Given the description of an element on the screen output the (x, y) to click on. 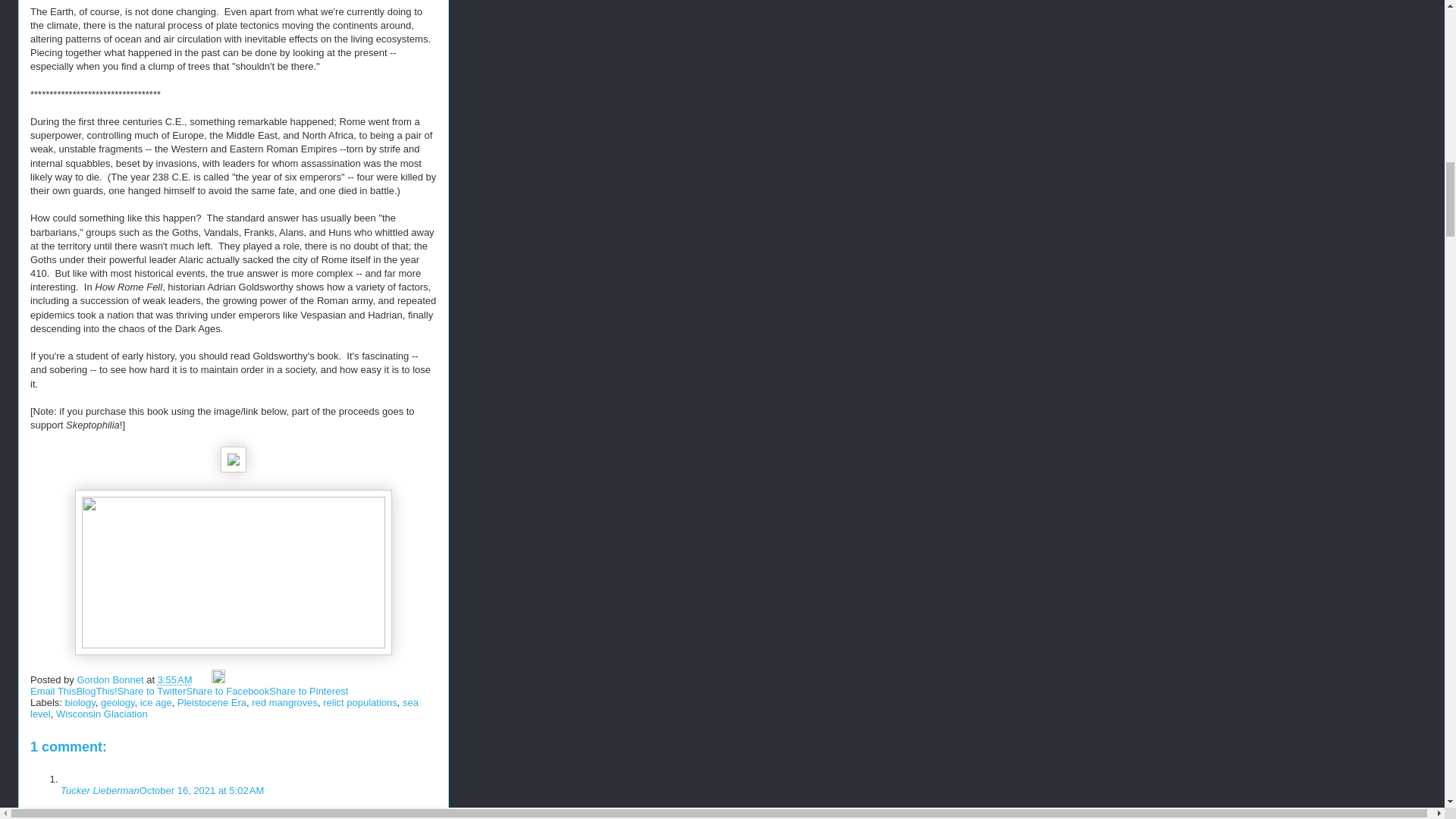
Tucker Lieberman (100, 790)
BlogThis! (95, 690)
Edit Post (218, 679)
Share to Twitter (151, 690)
Share to Pinterest (308, 690)
Email This (52, 690)
geology (117, 702)
BlogThis! (95, 690)
Email Post (203, 679)
Pleistocene Era (211, 702)
Gordon Bonnet (112, 679)
relict populations (360, 702)
Email This (52, 690)
Share to Facebook (227, 690)
